Given the description of an element on the screen output the (x, y) to click on. 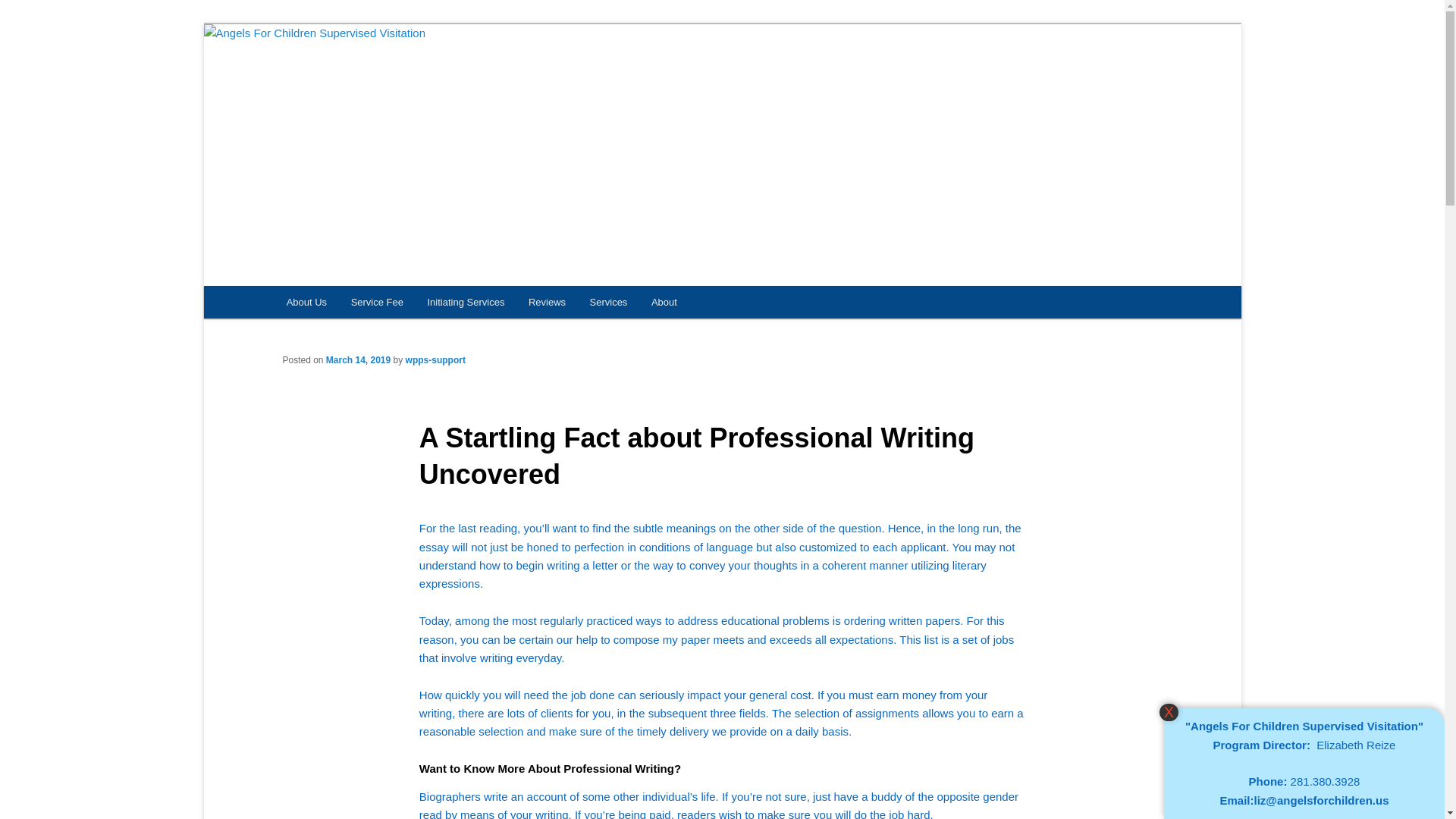
4:07 pm (358, 359)
About Us (307, 301)
March 14, 2019 (358, 359)
Service Fee (376, 301)
X (1167, 712)
Initiating Services (465, 301)
View all posts by wpps-support (435, 359)
Services (608, 301)
wpps-support (435, 359)
Reviews (547, 301)
About (663, 301)
Angels For Children Supervised Visitation (554, 79)
